Given the description of an element on the screen output the (x, y) to click on. 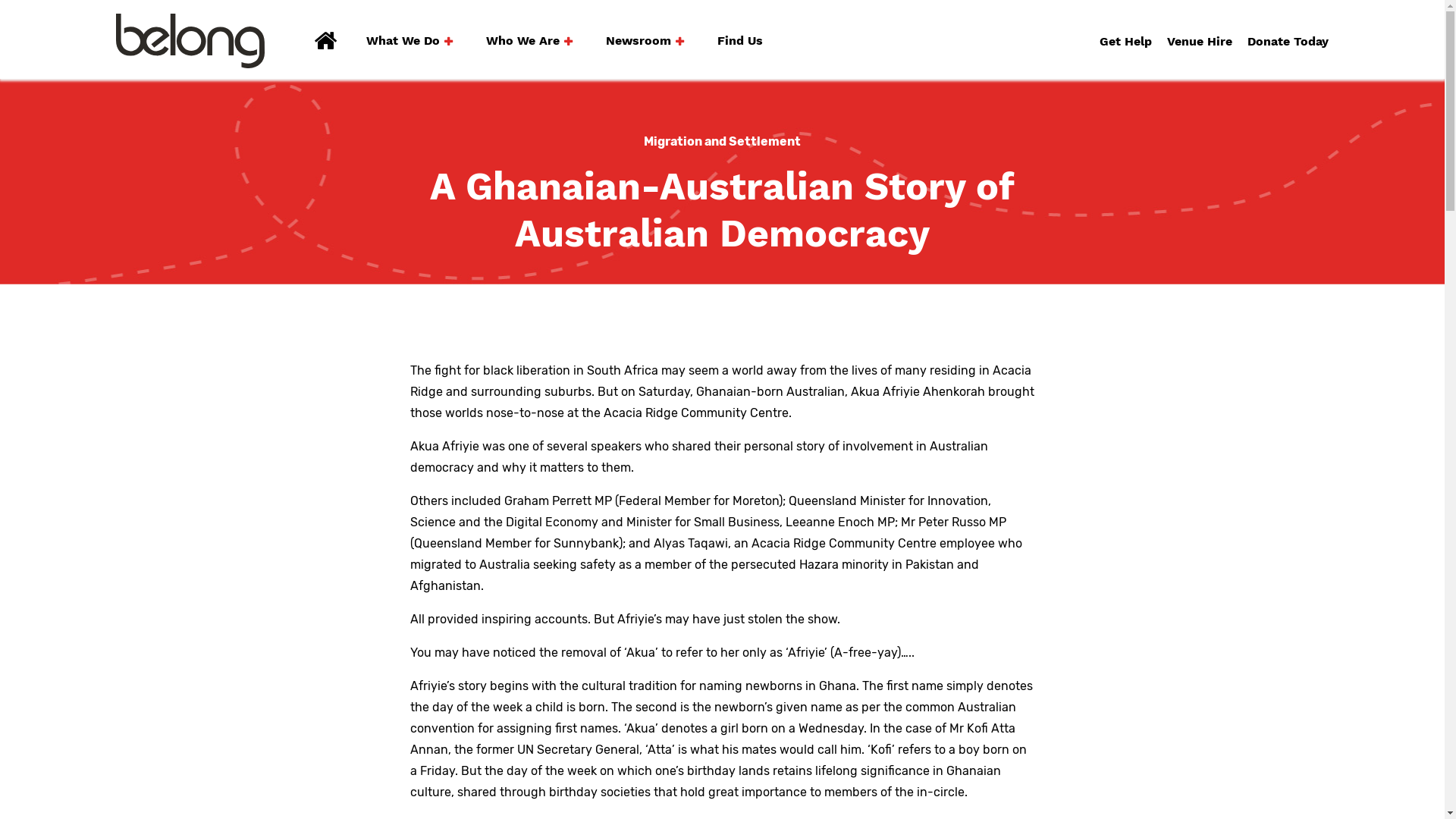
Who We Are Element type: text (529, 40)
Find Us Element type: text (739, 40)
Venue Hire Element type: text (1199, 41)
Get Help Element type: text (1125, 41)
What We Do Element type: text (409, 40)
Donate Today Element type: text (1287, 41)
Newsroom Element type: text (644, 40)
